Given the description of an element on the screen output the (x, y) to click on. 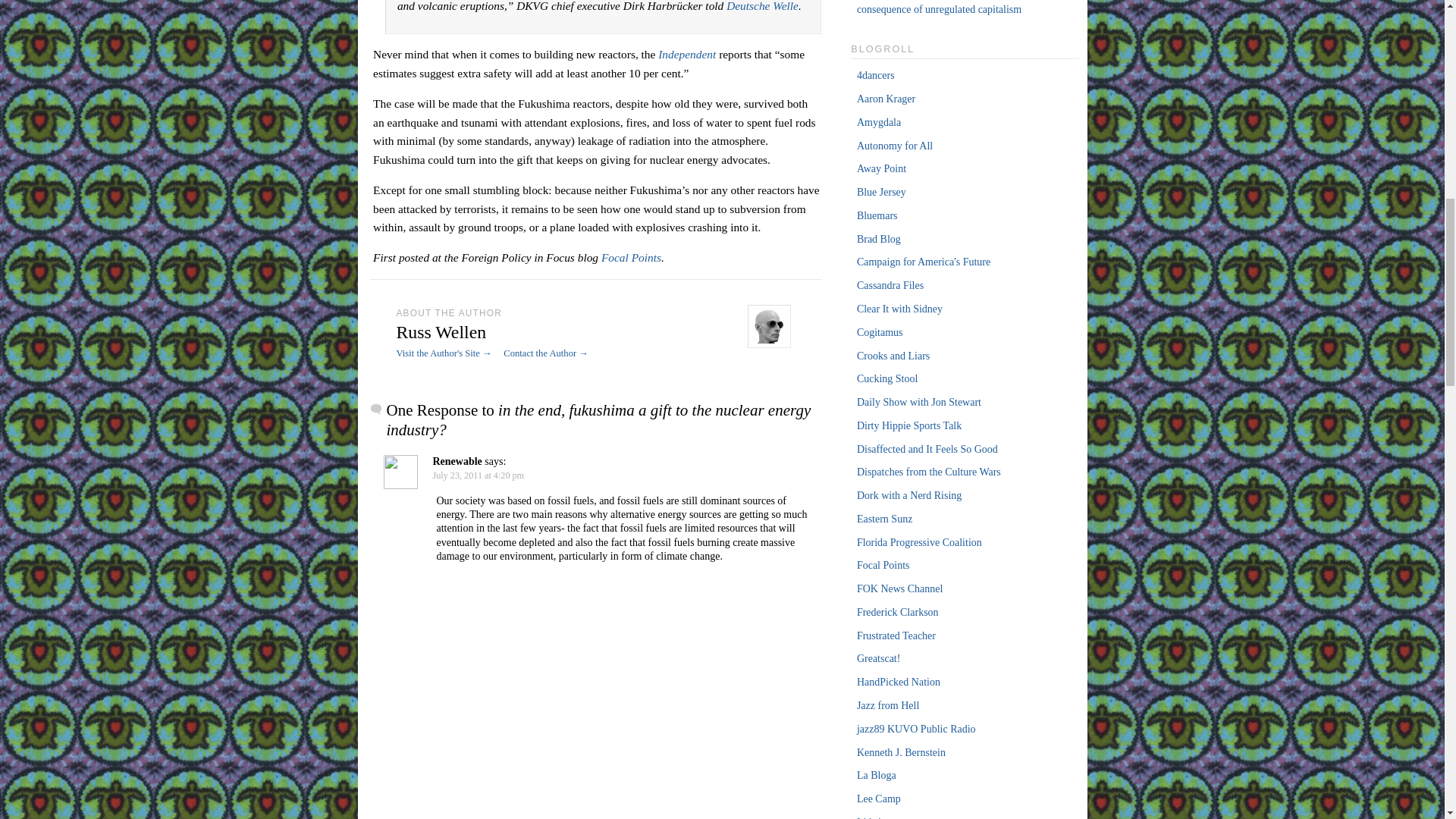
July 23, 2011 at 4:20 pm (478, 475)
Renewable (456, 460)
Independent (687, 53)
Focal Points (631, 256)
Deutsche Welle (761, 6)
4dancers (876, 75)
Aaron Krager (886, 98)
